Given the description of an element on the screen output the (x, y) to click on. 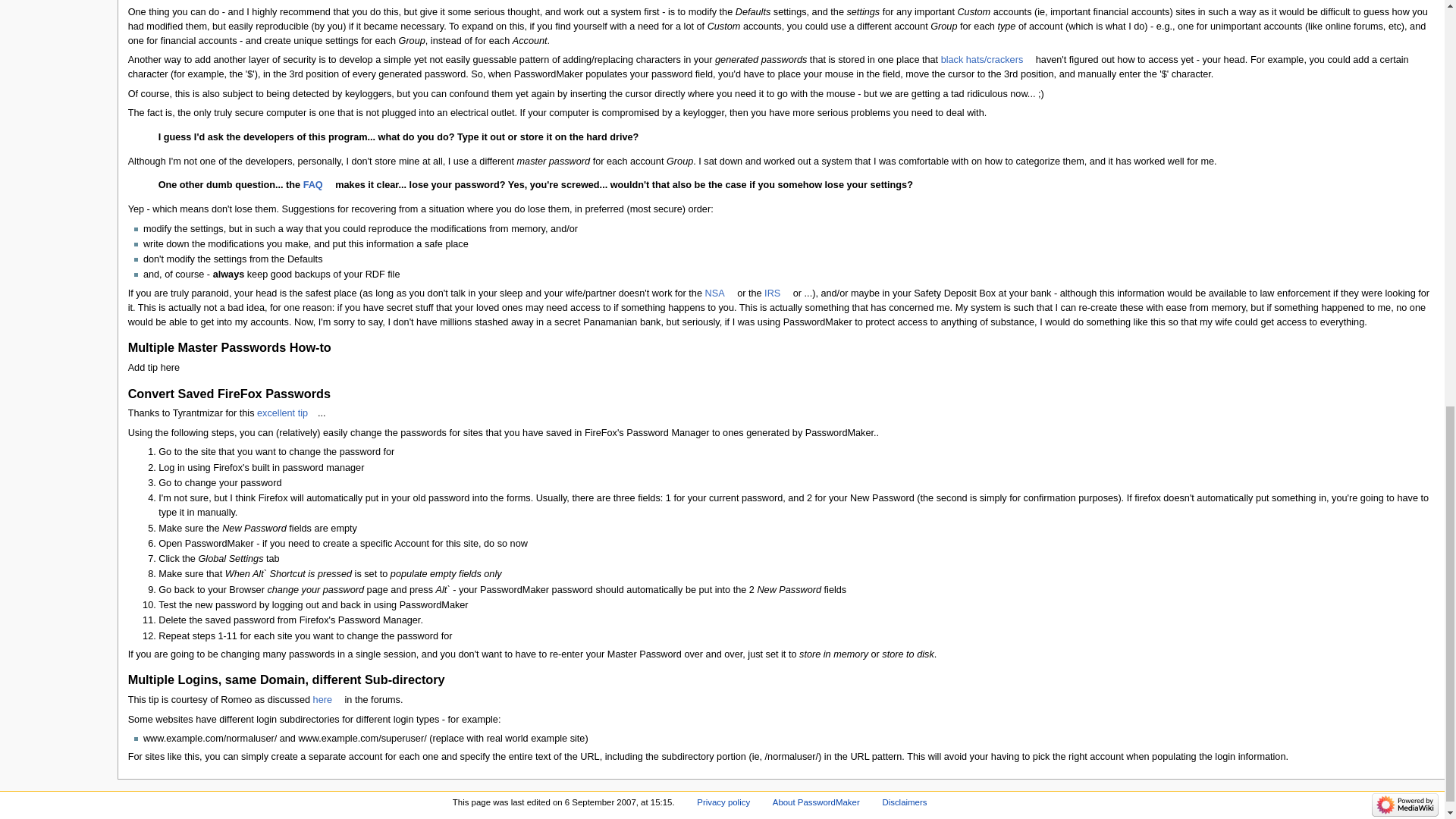
NSA (719, 293)
IRS (777, 293)
FAQ (317, 184)
here (327, 699)
excellent tip (287, 412)
